Given the description of an element on the screen output the (x, y) to click on. 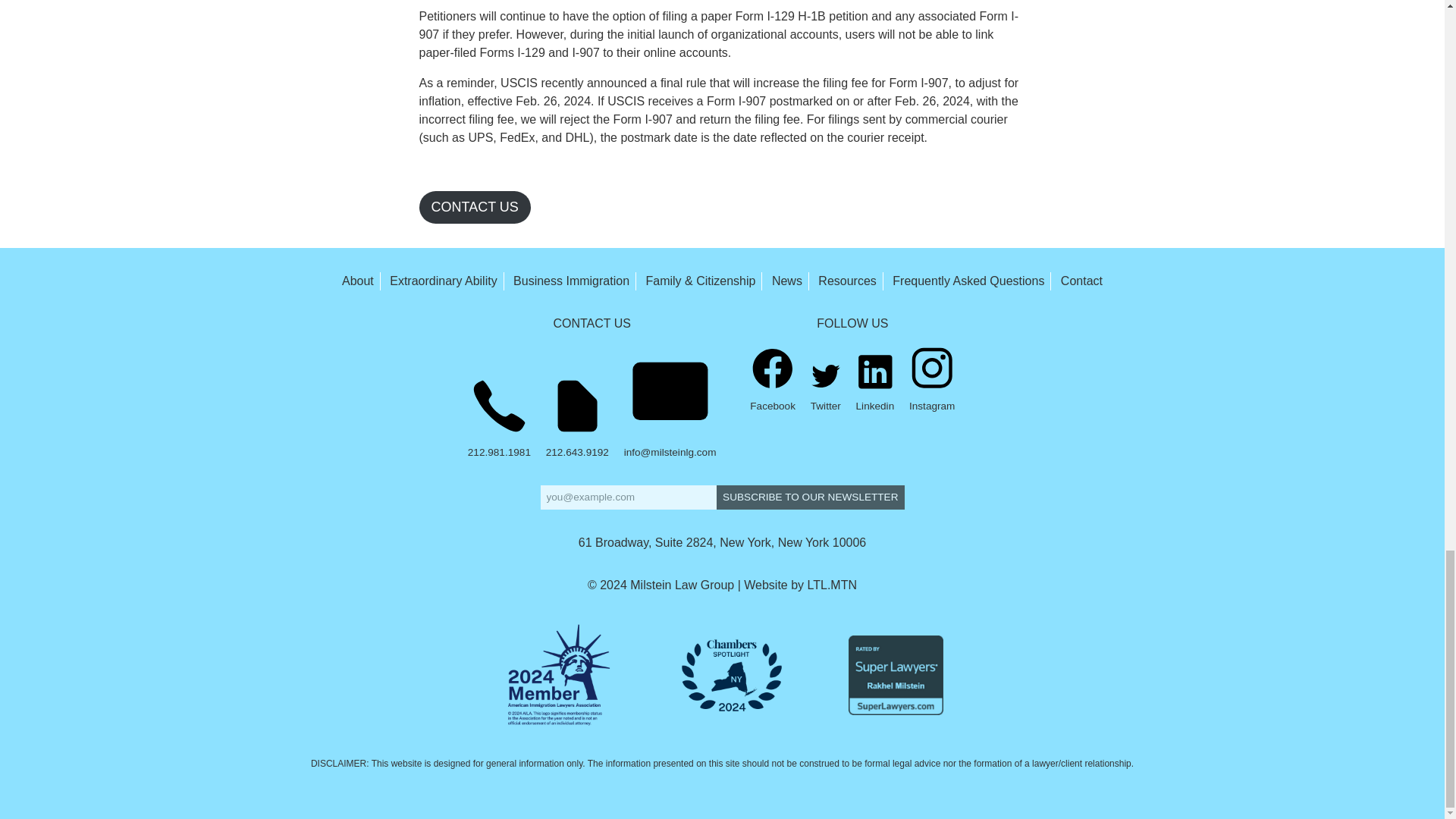
Subscribe to our Newsletter (810, 497)
News (786, 280)
Resources (847, 280)
LTL.MTN (832, 584)
About (358, 280)
Business Immigration (570, 280)
Subscribe to our Newsletter (810, 497)
CONTACT US (474, 206)
Frequently Asked Questions (967, 280)
Contact (1081, 280)
